Given the description of an element on the screen output the (x, y) to click on. 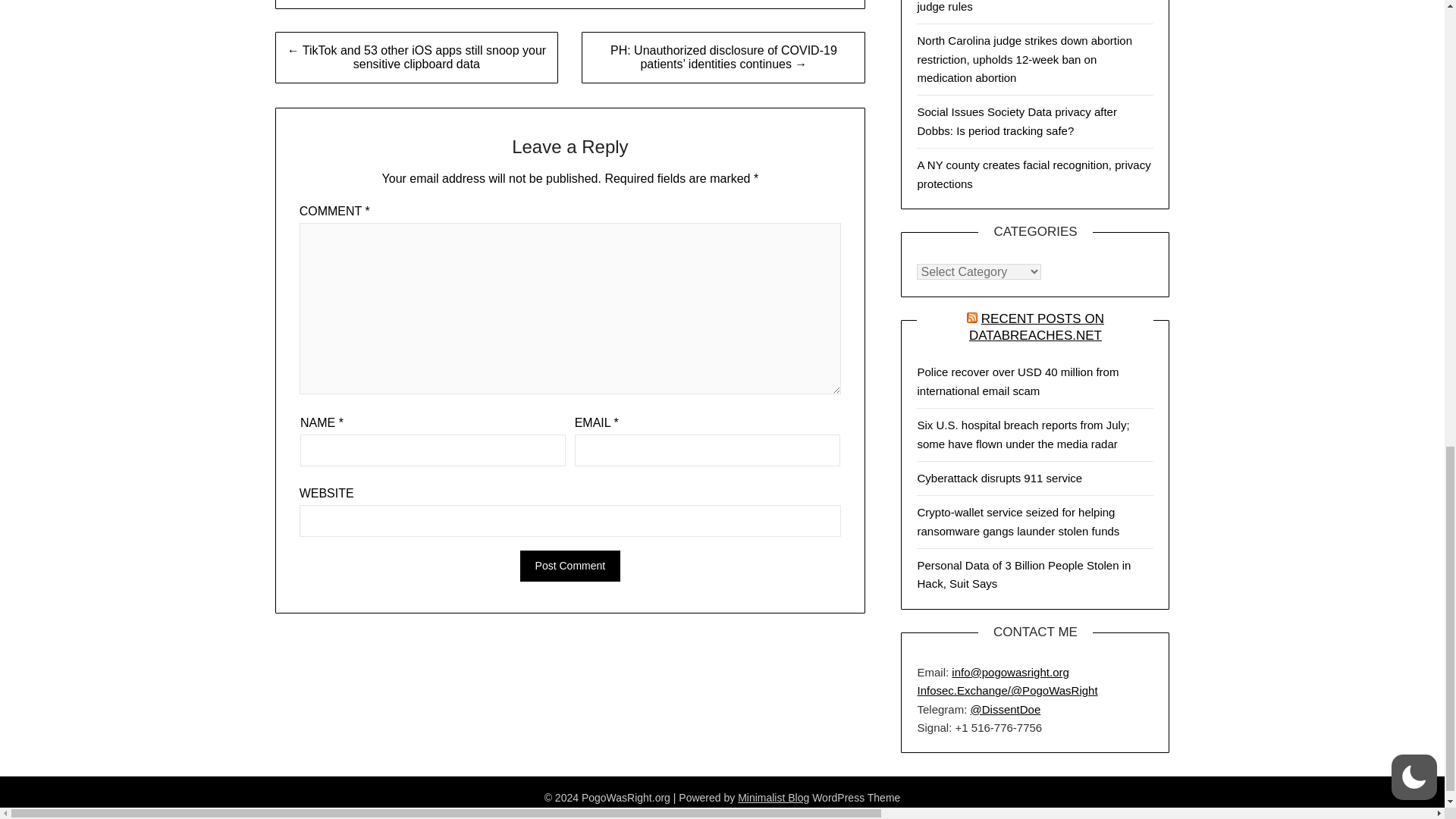
Post Comment (570, 565)
A NY county creates facial recognition, privacy protections (1033, 173)
Post Comment (570, 565)
RECENT POSTS ON DATABREACHES.NET (1036, 327)
Personal Data of 3 Billion People Stolen in Hack, Suit Says (1024, 573)
Minimalist Blog (773, 797)
